Given the description of an element on the screen output the (x, y) to click on. 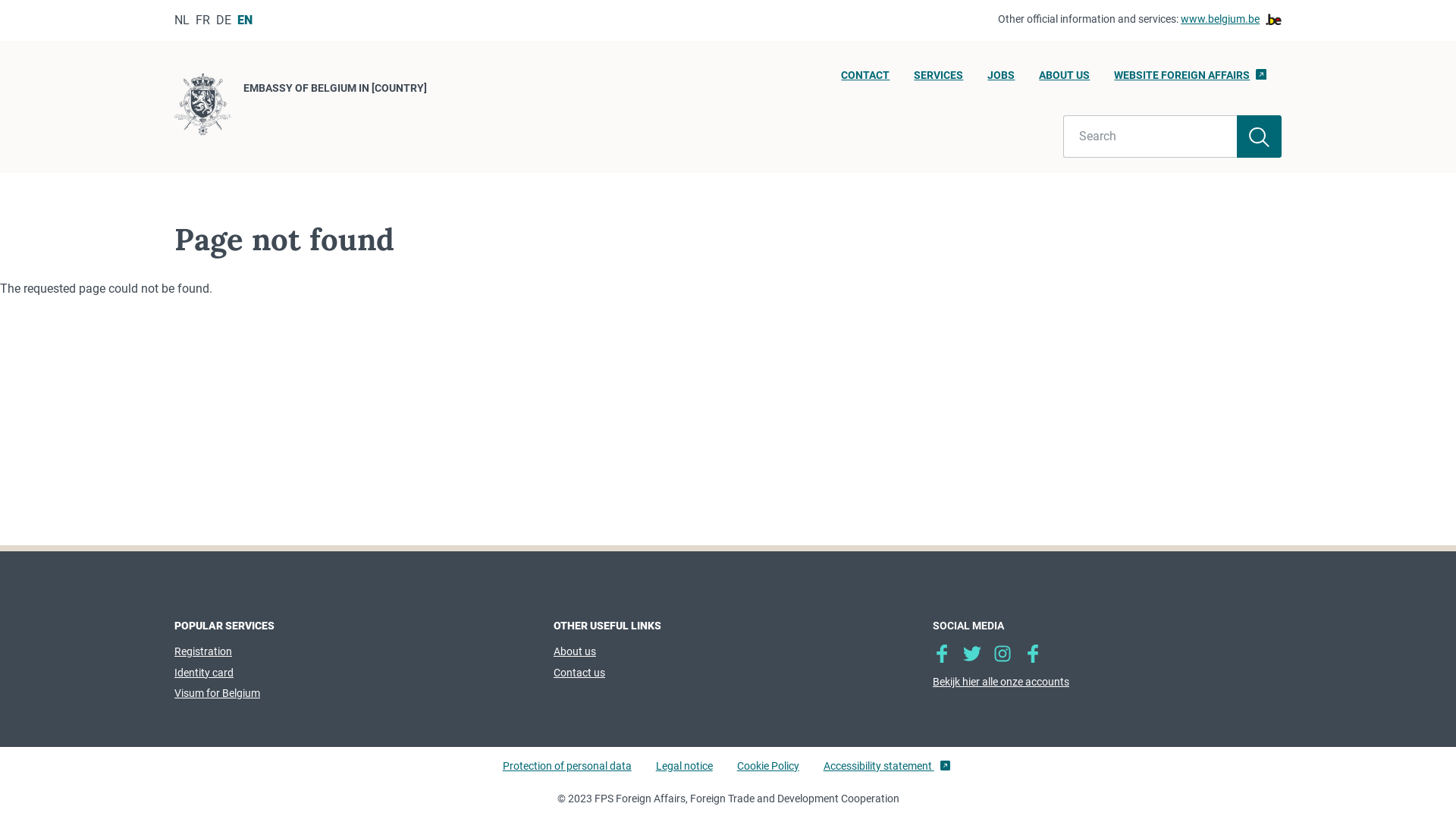
Registration Element type: text (203, 651)
ABOUT US Element type: text (1063, 79)
Cookie Policy Element type: text (767, 772)
WEBSITE FOREIGN AFFAIRS Element type: text (1189, 79)
Skip to main content Element type: text (7, 4)
Search Element type: hover (1149, 136)
Legal notice Element type: text (683, 772)
Contact us Element type: text (579, 672)
EN Element type: text (244, 19)
NL Element type: text (181, 19)
About us Element type: text (574, 651)
DE Element type: text (223, 19)
Visum for Belgium Element type: text (217, 693)
EMBASSY OF BELGIUM IN [COUNTRY] Element type: text (300, 106)
JOBS Element type: text (1000, 79)
Protection of personal data Element type: text (566, 772)
Apply filter Element type: text (1258, 136)
CONTACT Element type: text (864, 79)
www.belgium.be Element type: text (1230, 19)
Accessibility statement Element type: text (887, 772)
Bekijk hier alle onze accounts Element type: text (1106, 682)
Embassy of Belgium in France Element type: text (1002, 653)
FR Element type: text (202, 19)
Identity card Element type: text (203, 672)
SERVICES Element type: text (938, 79)
